Given the description of an element on the screen output the (x, y) to click on. 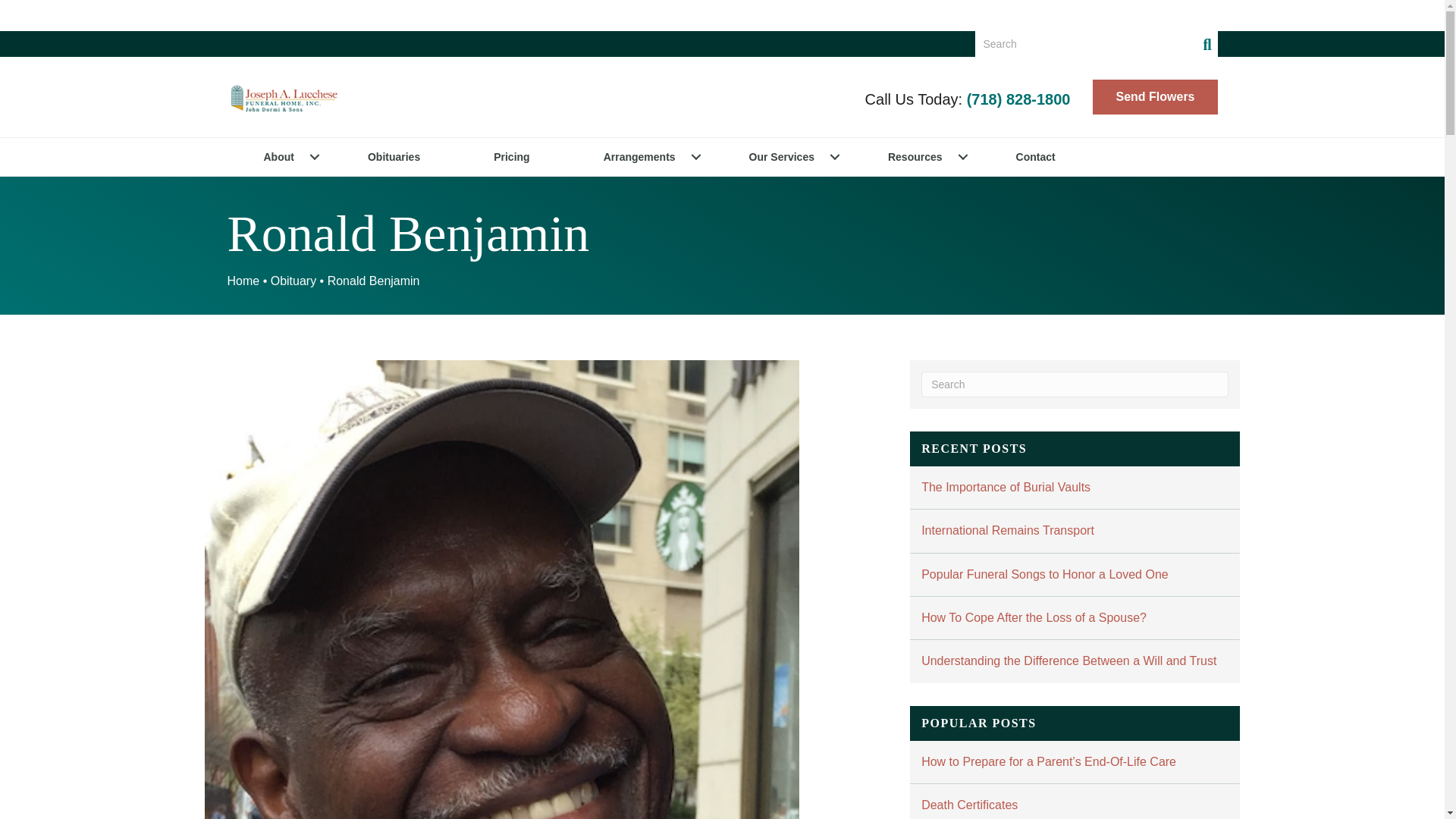
Send Flowers (1155, 96)
logo (283, 96)
Type and press Enter to search. (1075, 384)
Type and press Enter to search. (1096, 43)
